Given the description of an element on the screen output the (x, y) to click on. 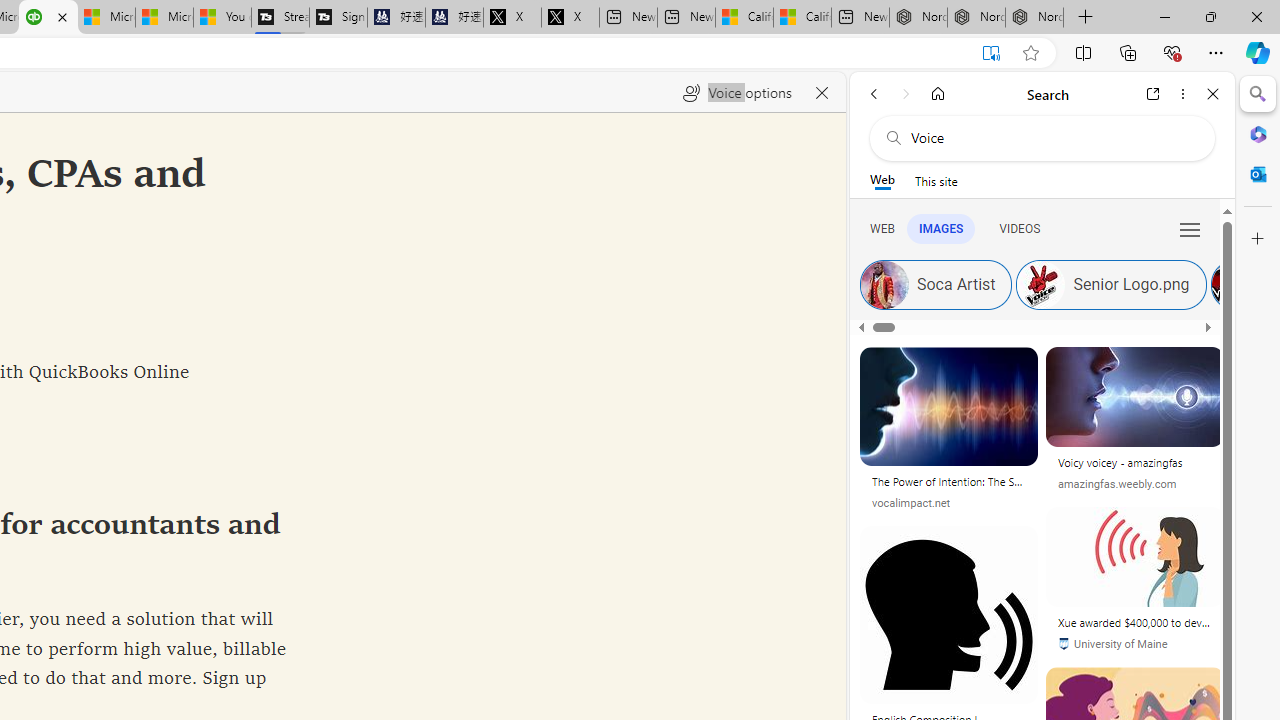
Senior Logo.png (1041, 284)
Microsoft Start Sports (106, 17)
Streaming Coverage | T3 (280, 17)
University of Maine (1135, 643)
Voicy voicey - amazingfas (1135, 462)
Nordace - Siena Pro 15 Essential Set (1034, 17)
Kids Logo (1234, 284)
VIDEOS (1019, 228)
More options (1182, 93)
Accounting Software for Accountants, CPAs and Bookkeepers (48, 17)
Close read aloud (821, 92)
